Given the description of an element on the screen output the (x, y) to click on. 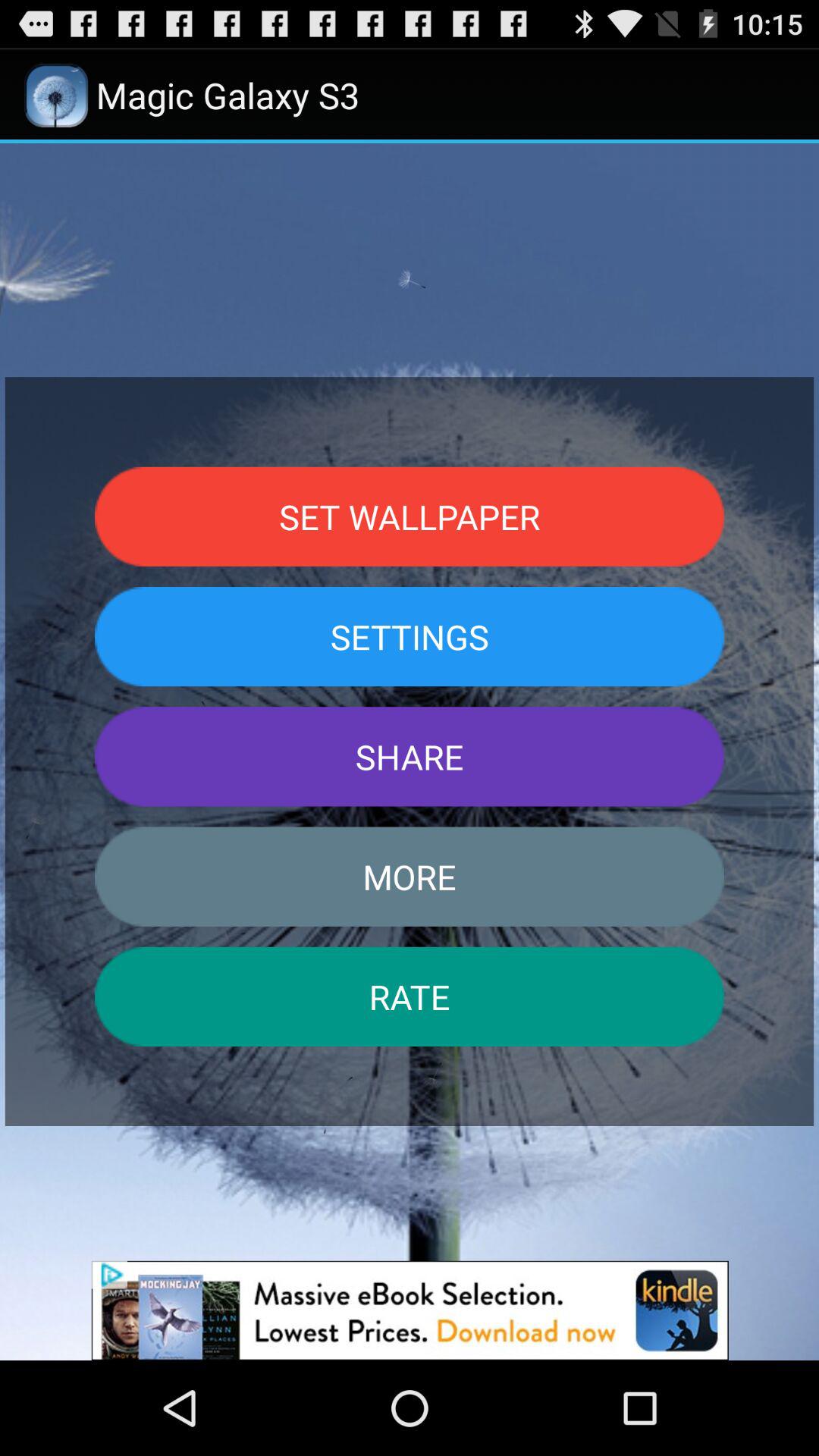
tap item above settings (409, 516)
